Given the description of an element on the screen output the (x, y) to click on. 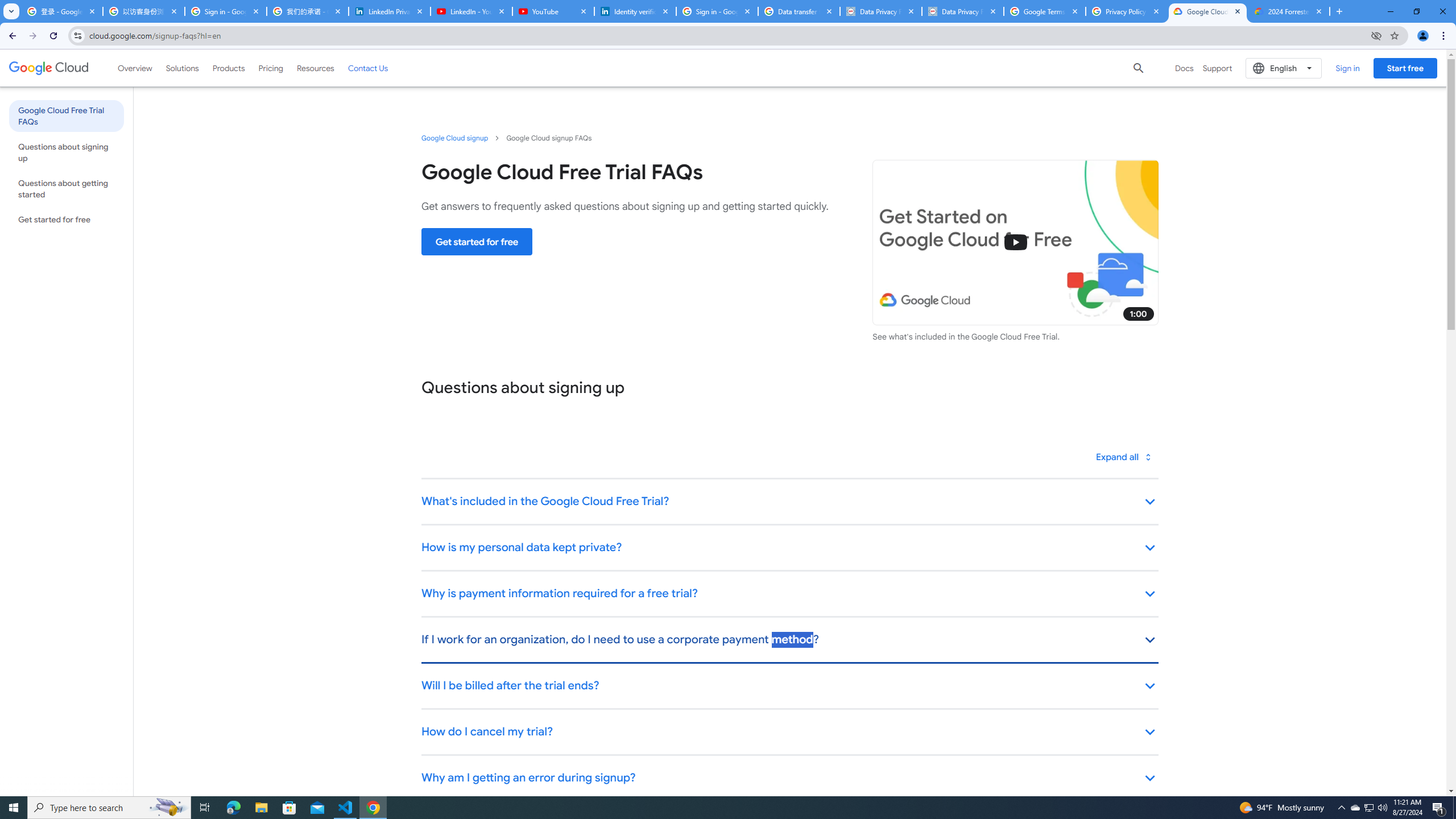
How do I cancel my trial? keyboard_arrow_down (789, 732)
How is my personal data kept private? keyboard_arrow_down (789, 547)
Start free (1405, 67)
Contact Us (368, 67)
Sign in - Google Accounts (716, 11)
Get started for free (476, 241)
